Given the description of an element on the screen output the (x, y) to click on. 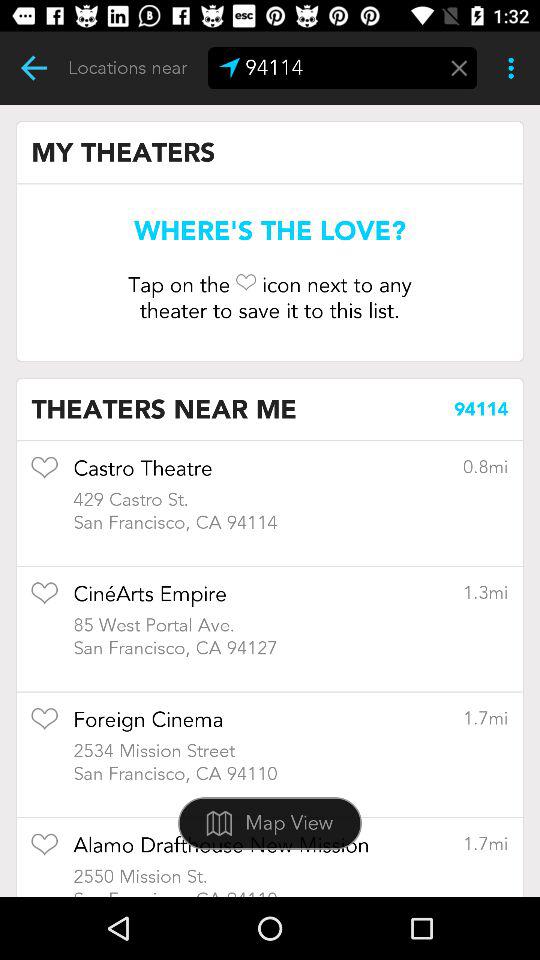
erase zip code field (459, 68)
